Given the description of an element on the screen output the (x, y) to click on. 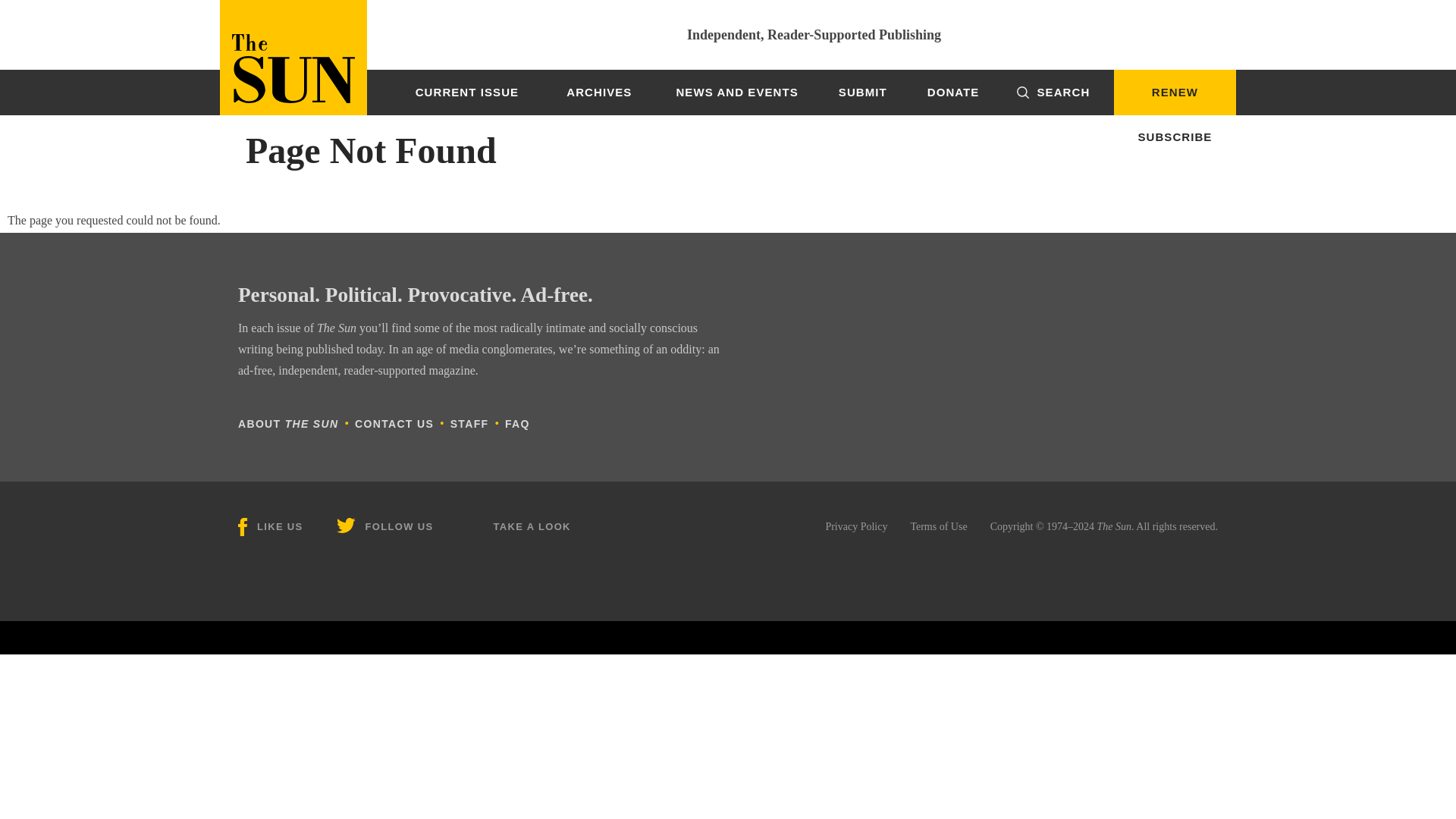
CURRENT ISSUE (467, 92)
ARCHIVES (599, 92)
NEWS AND EVENTS (737, 92)
